Given the description of an element on the screen output the (x, y) to click on. 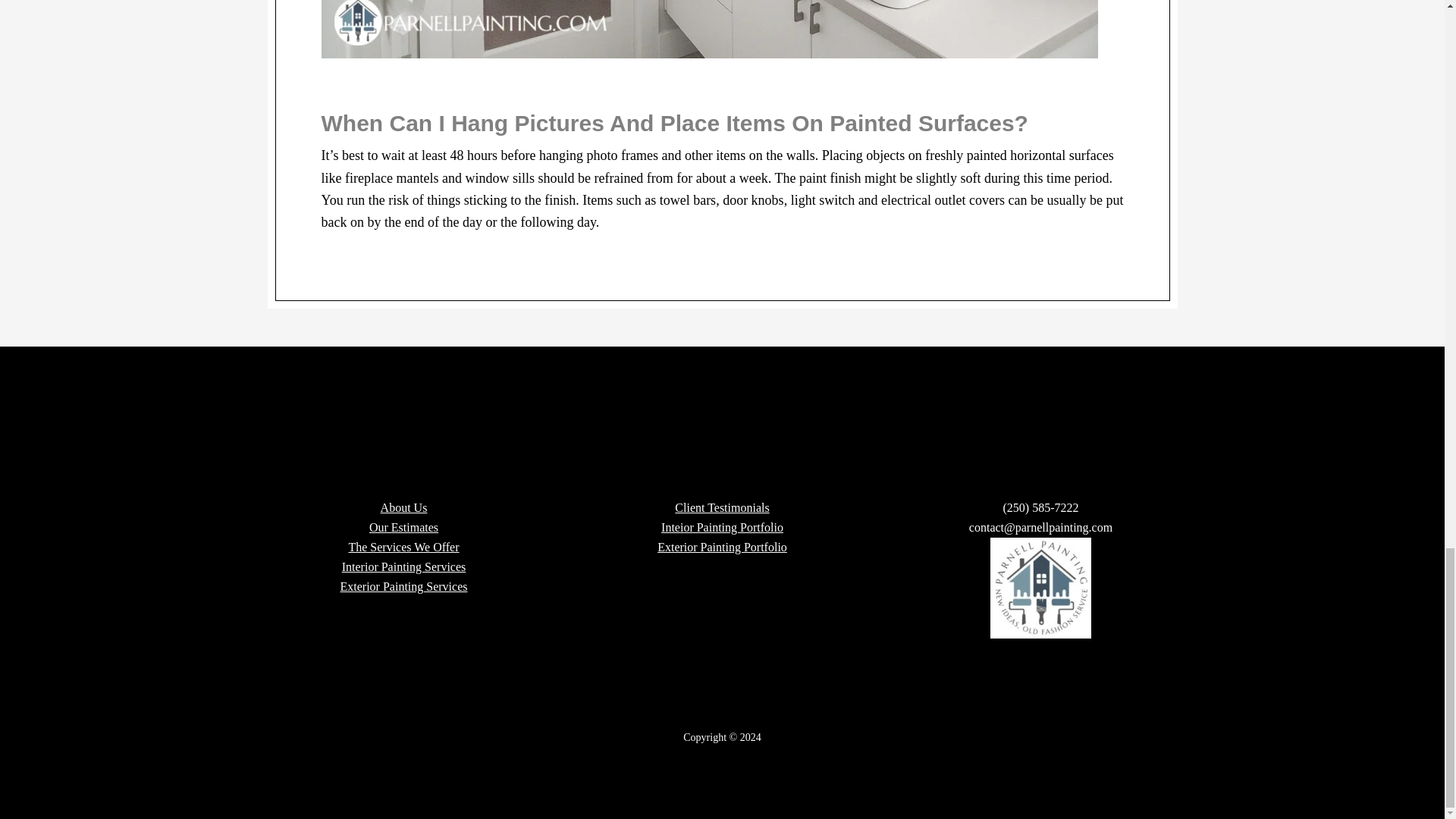
Exterior Painting Process (403, 585)
Our Estimates (403, 526)
Services We Offer (402, 546)
Client Testimonials (721, 507)
Interior Painting Portfolio (722, 526)
About Us (404, 507)
Interior Painting Process (403, 566)
Interior Painting Services (403, 566)
The Services We Offer (402, 546)
Exterior Painting Portfolio (722, 546)
Exterior Painting Portfolio (722, 546)
Our Estimates (403, 526)
Exterior Painting Services (403, 585)
Client Testimonials (721, 507)
About Us (404, 507)
